Given the description of an element on the screen output the (x, y) to click on. 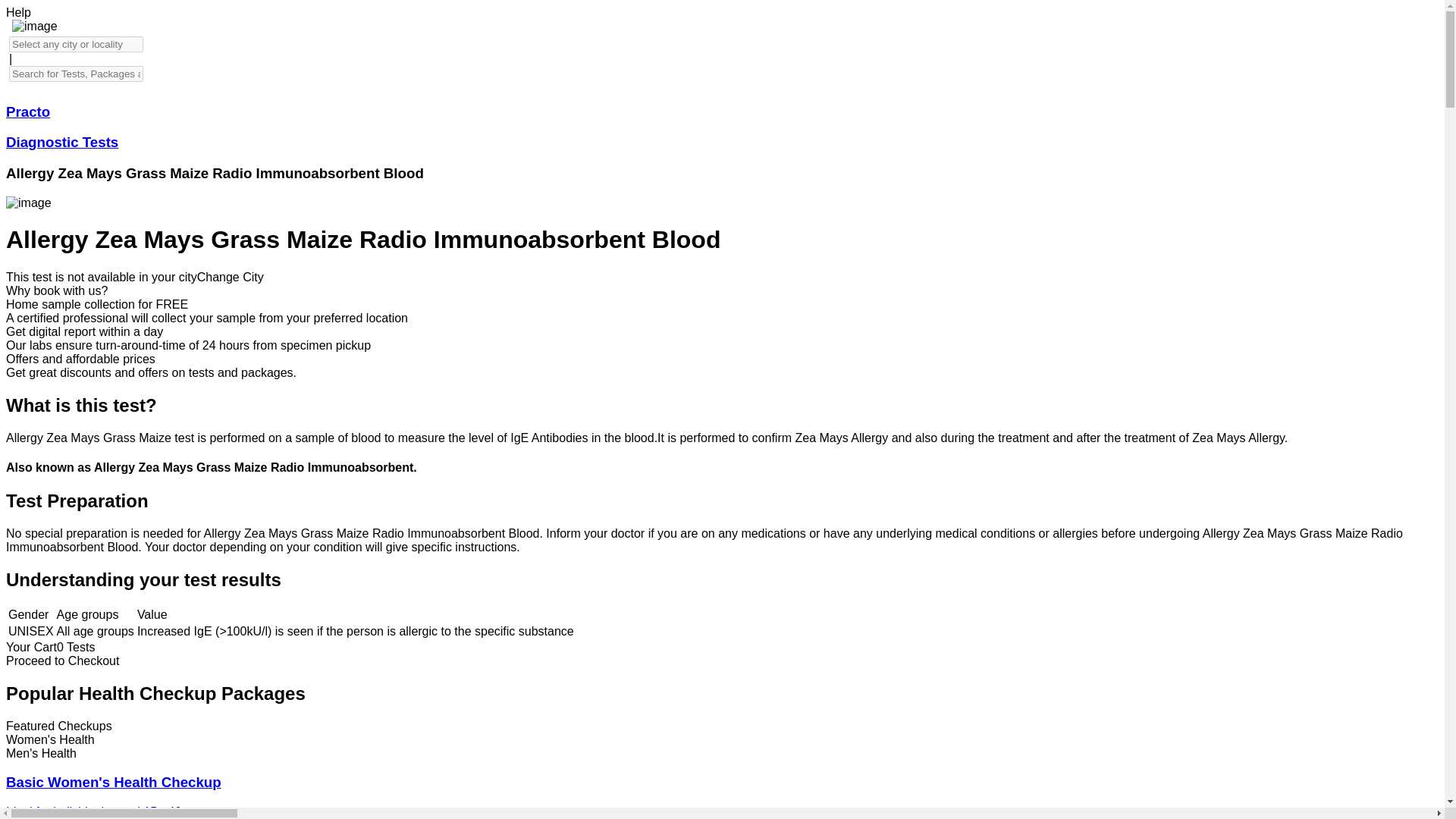
Diagnostic Tests (61, 141)
Practo (27, 111)
